Given the description of an element on the screen output the (x, y) to click on. 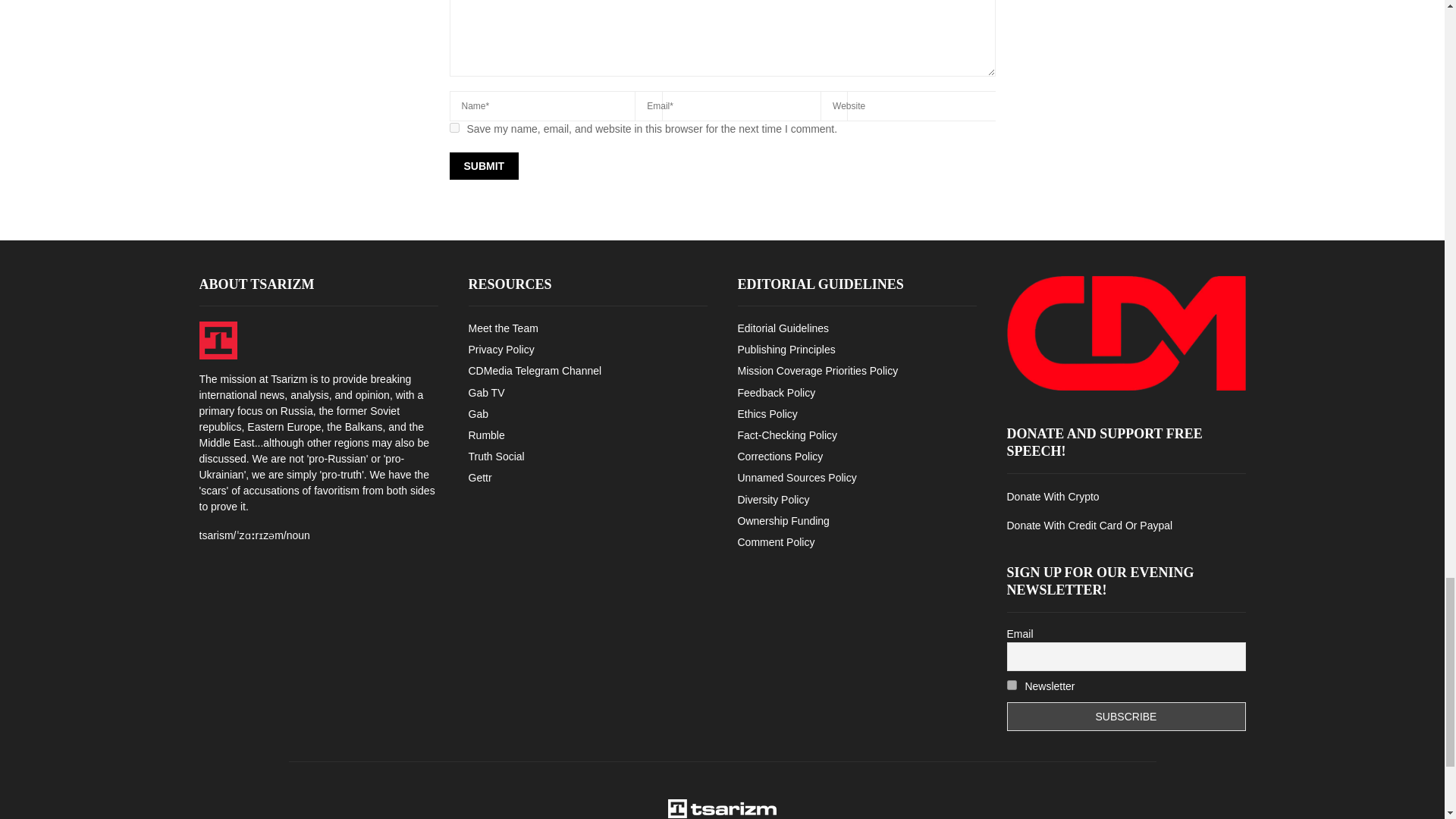
Submit (483, 165)
Subscribe (1126, 716)
1 (1011, 685)
yes (453, 127)
